Given the description of an element on the screen output the (x, y) to click on. 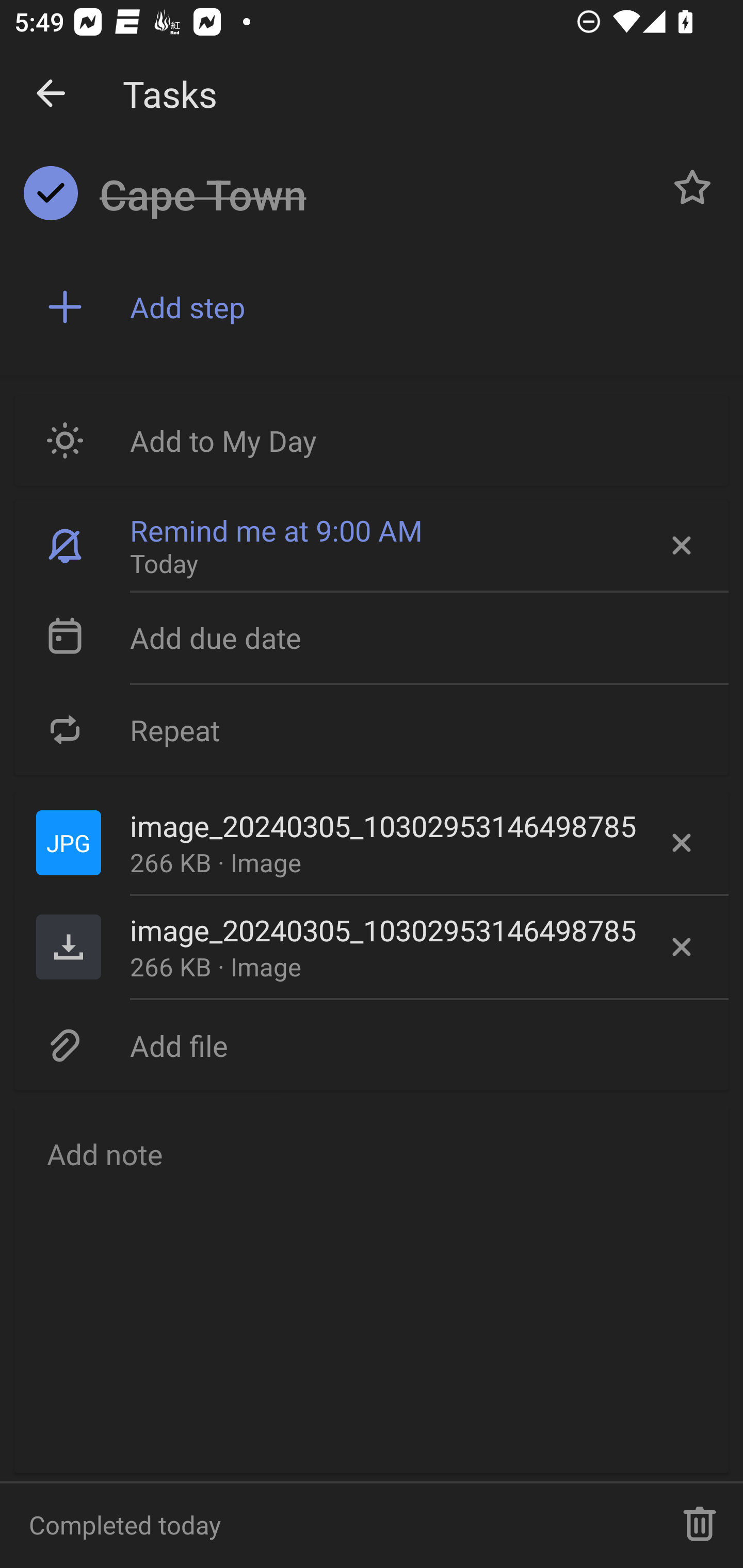
Dismiss detail view (50, 93)
Completed task Cape Town, Button (50, 192)
Cape Town (374, 195)
Normal task Cape Town, Button (692, 187)
Add step (422, 307)
Add to My Day (371, 440)
Remind me at 9:00 AM Today Remove reminder (371, 545)
Remove reminder (679, 545)
Add due date (371, 637)
Repeat (371, 729)
Delete file (681, 842)
Delete file (681, 947)
Add file (371, 1044)
Add note, Button Email Renderer Add note (371, 1288)
Delete task (699, 1524)
